Given the description of an element on the screen output the (x, y) to click on. 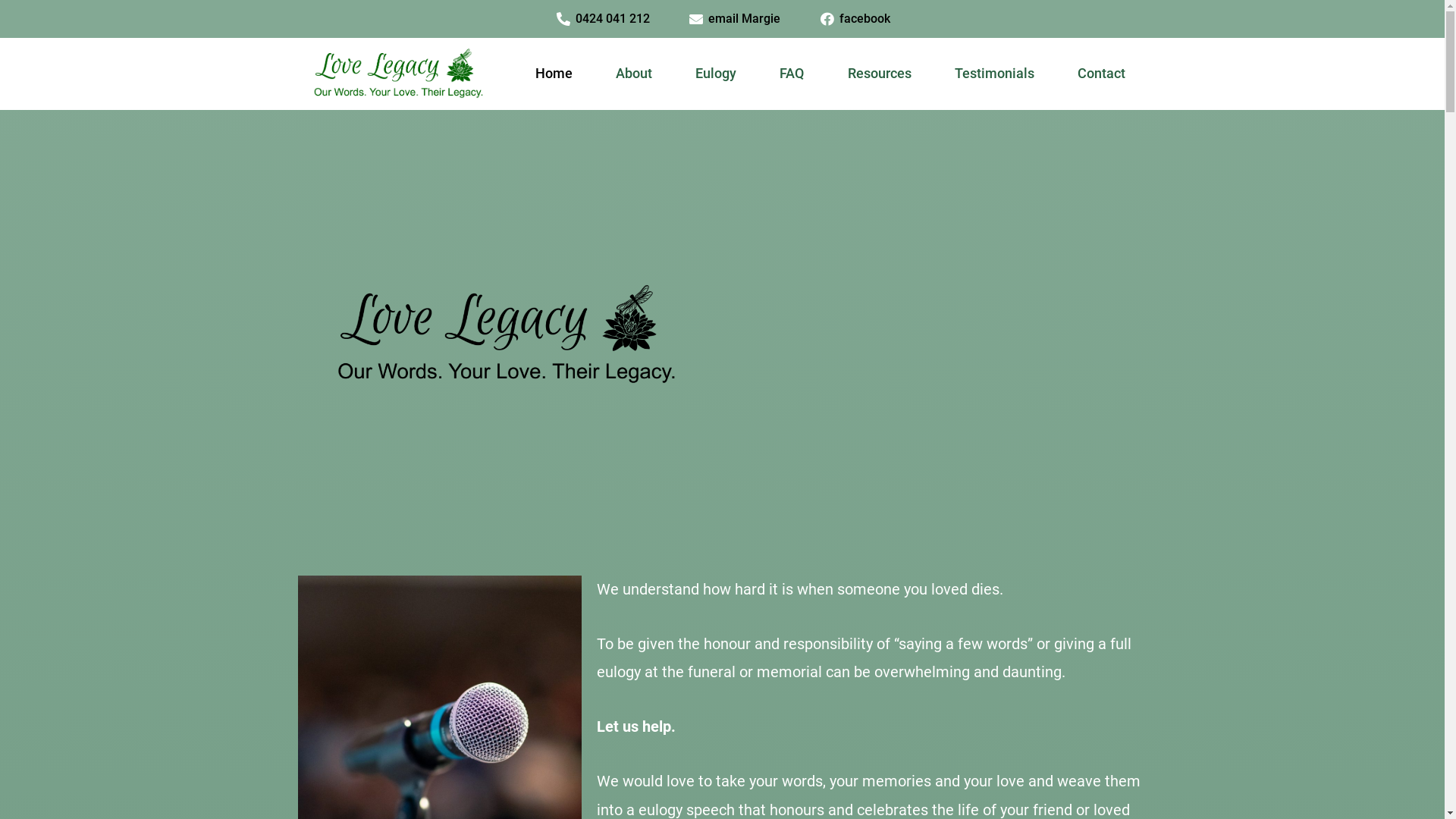
Eulogy Element type: text (716, 73)
FAQ Element type: text (791, 73)
Resources Element type: text (878, 73)
Testimonials Element type: text (993, 73)
Contact Element type: text (1100, 73)
About Element type: text (634, 73)
Home Element type: text (554, 73)
facebook Element type: text (854, 18)
email Margie Element type: text (734, 18)
